Given the description of an element on the screen output the (x, y) to click on. 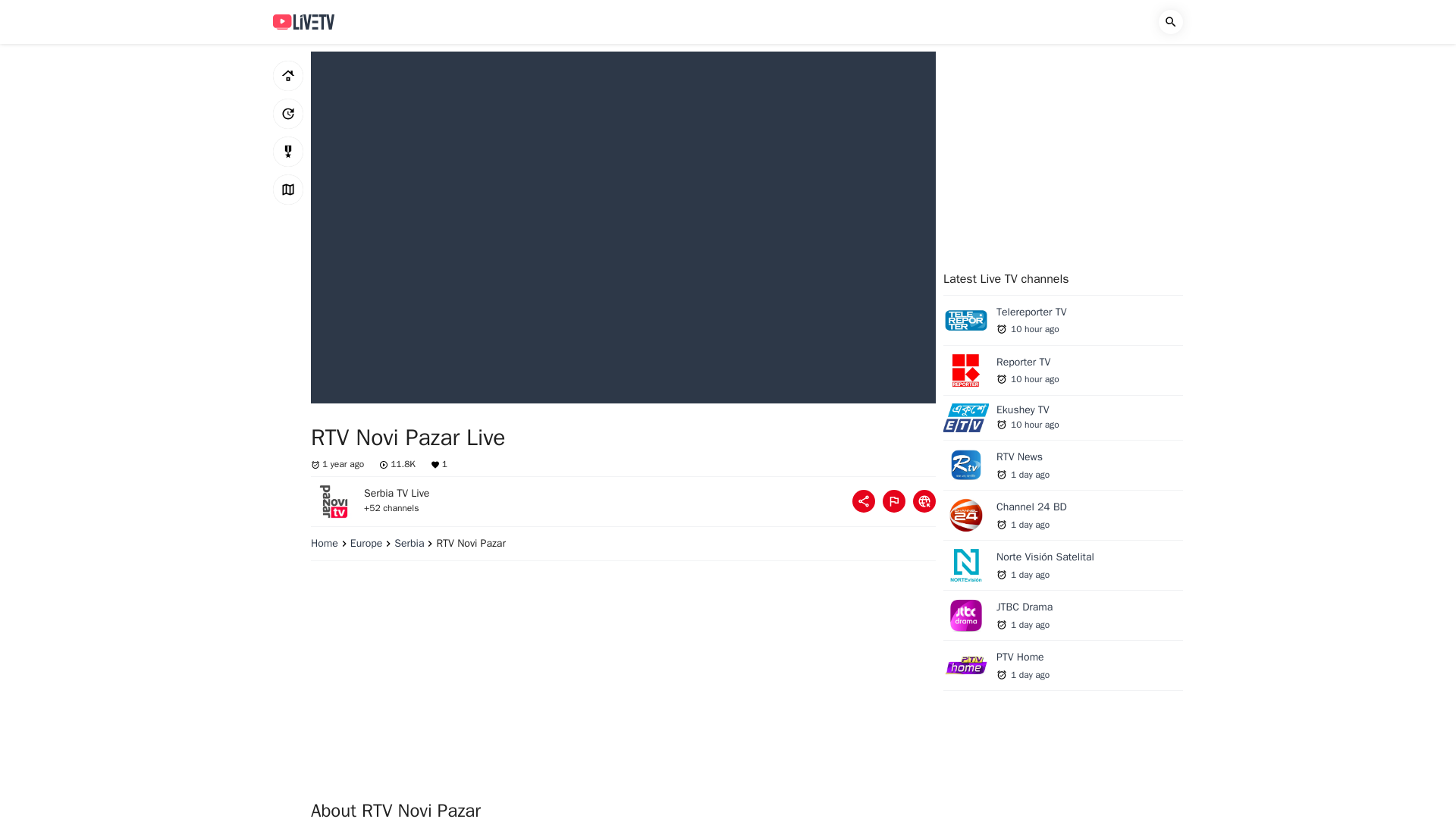
Latest Live TV channels (287, 113)
RTV Novi Pazar Live stream (333, 500)
Top Live TV channels (287, 151)
Live TV channels: Live and Replay TV (303, 21)
Resource Links (924, 500)
RTV Novi Pazar Live (1062, 373)
